Given the description of an element on the screen output the (x, y) to click on. 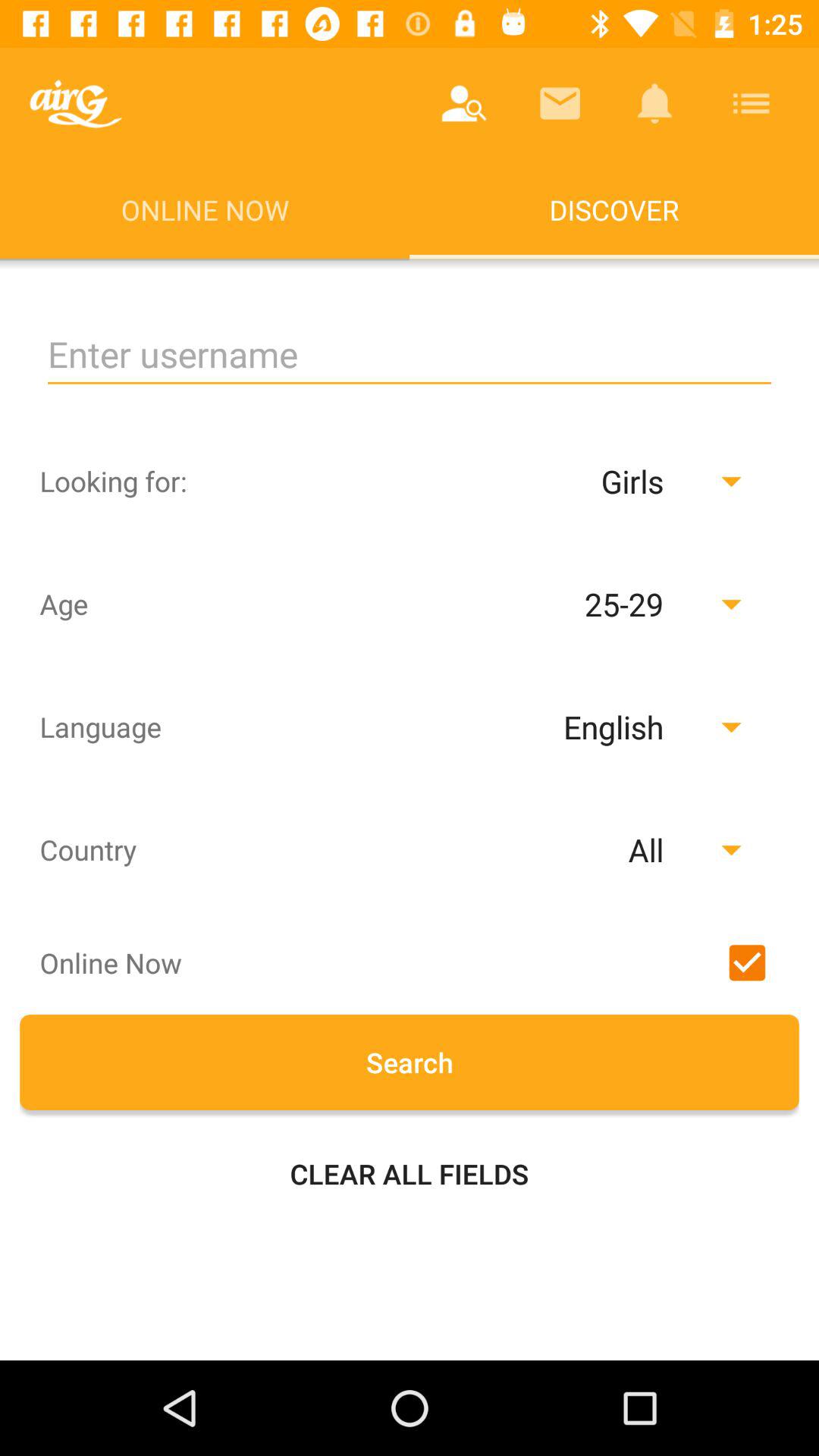
choose app above the discover item (751, 103)
